Given the description of an element on the screen output the (x, y) to click on. 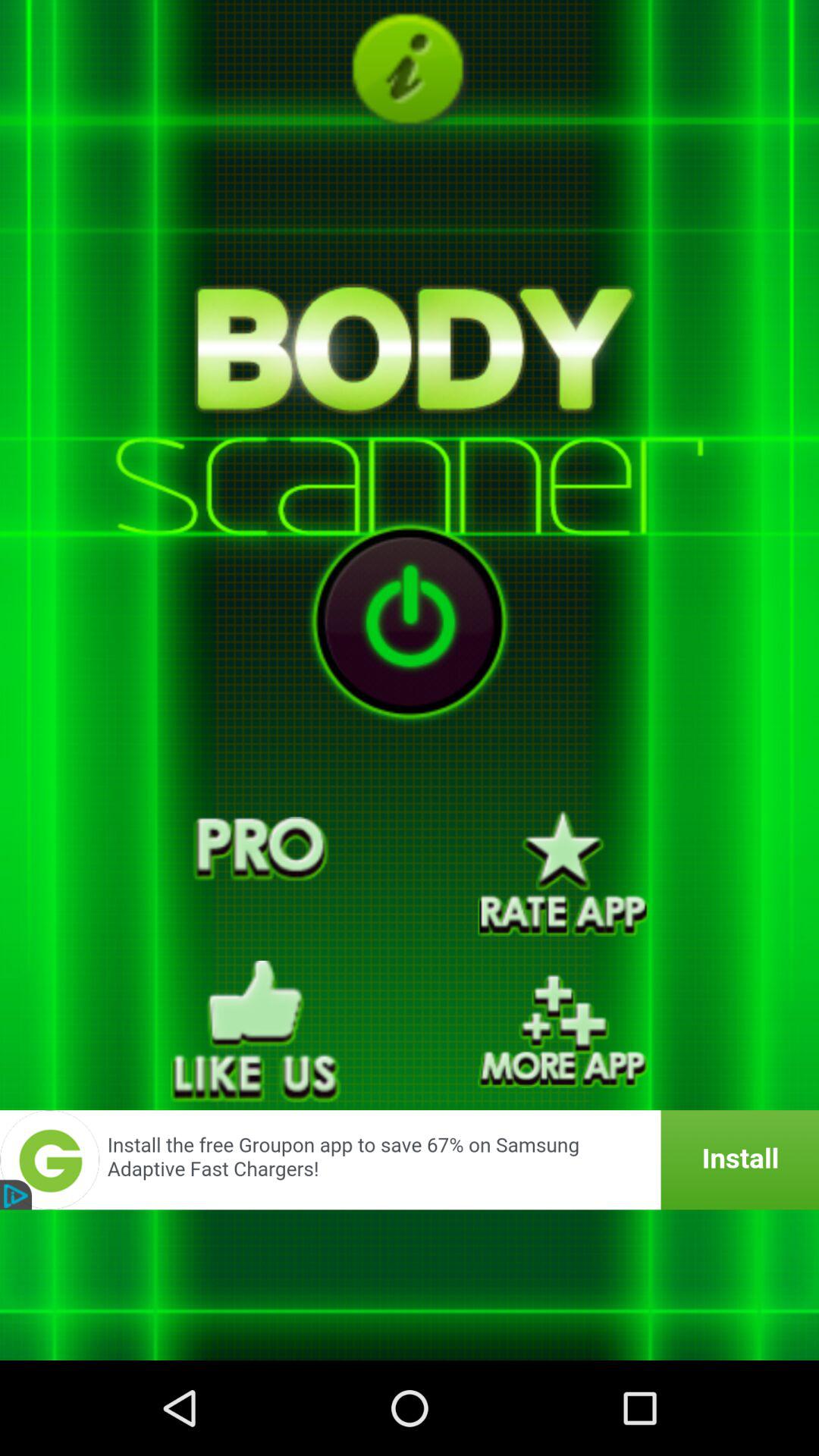
go to like option (255, 1031)
